Given the description of an element on the screen output the (x, y) to click on. 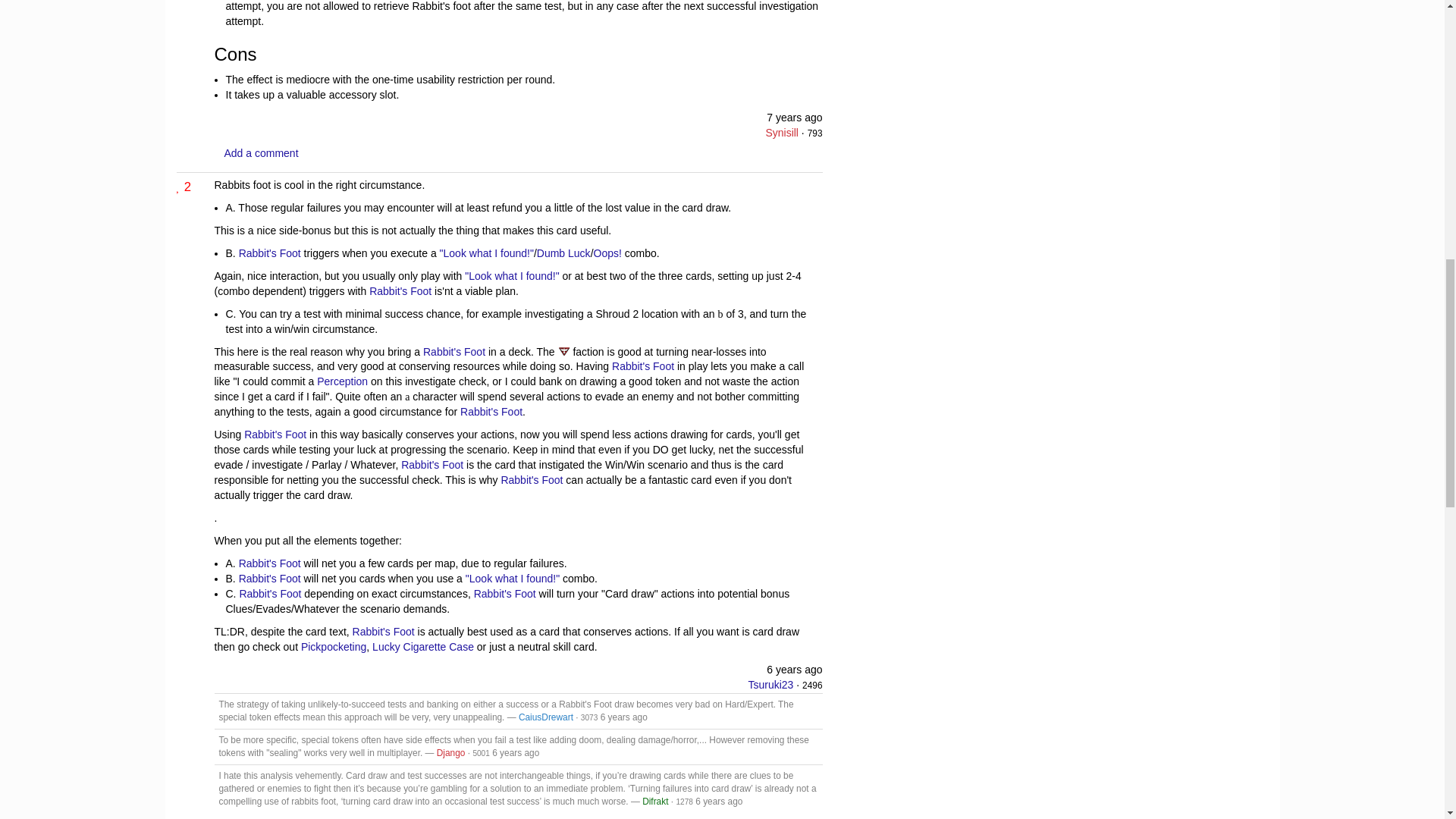
Synisill (781, 132)
User Reputation (812, 685)
Tuesday, May 30, 2017 11:42 PM (794, 117)
Monday, August 27, 2018 11:42 PM (718, 801)
Monday, August 27, 2018 11:20 AM (623, 716)
Monday, August 27, 2018 6:30 PM (515, 752)
User Reputation (589, 717)
Add a comment (260, 153)
User Reputation (684, 801)
User Reputation (480, 753)
